Given the description of an element on the screen output the (x, y) to click on. 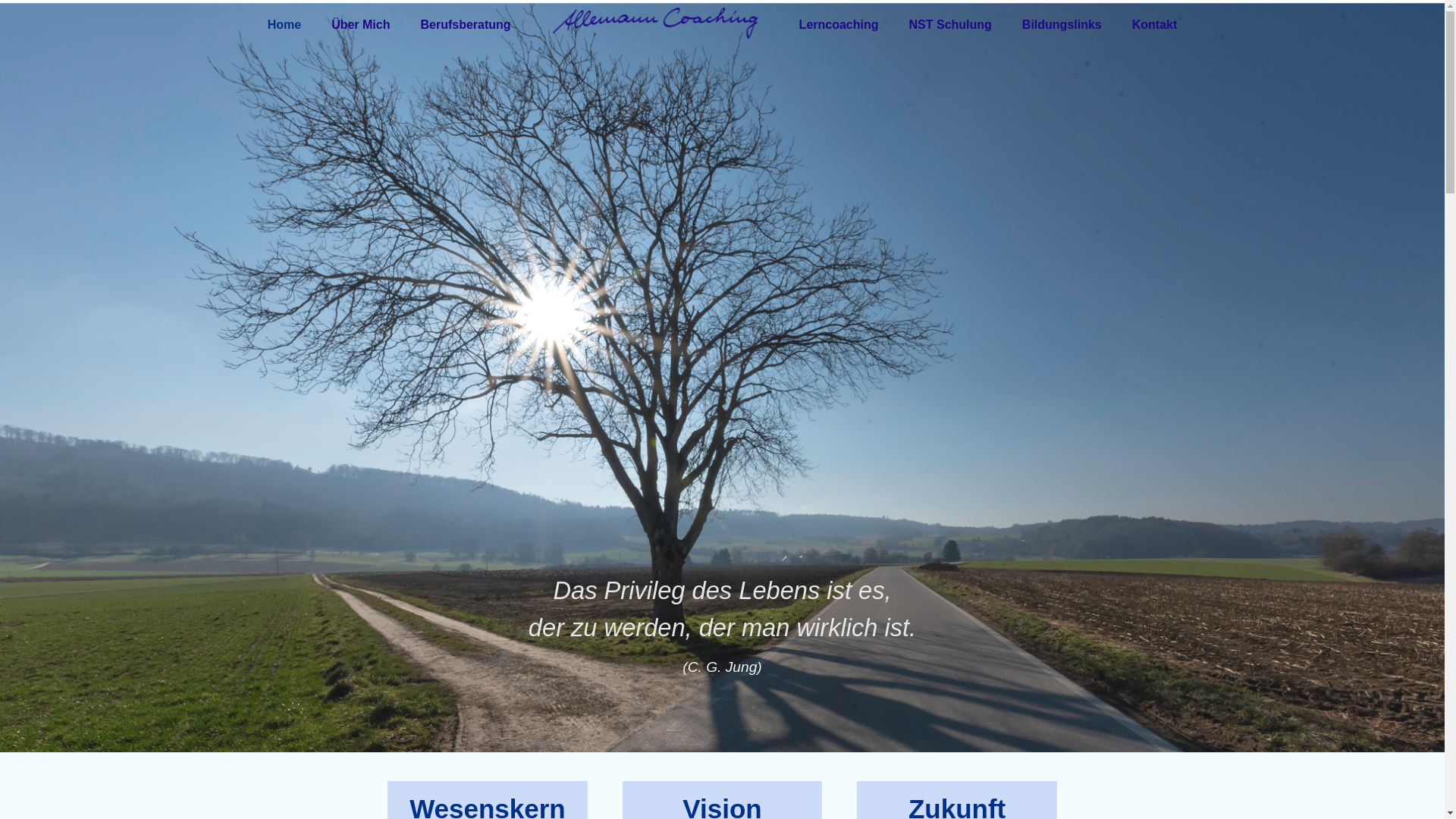
Bildungslinks Element type: text (1062, 24)
Home Element type: text (284, 24)
Lerncoaching Element type: text (839, 24)
Berufsberatung Element type: text (464, 24)
Kontakt Element type: text (1154, 24)
NST Schulung Element type: text (950, 24)
